Given the description of an element on the screen output the (x, y) to click on. 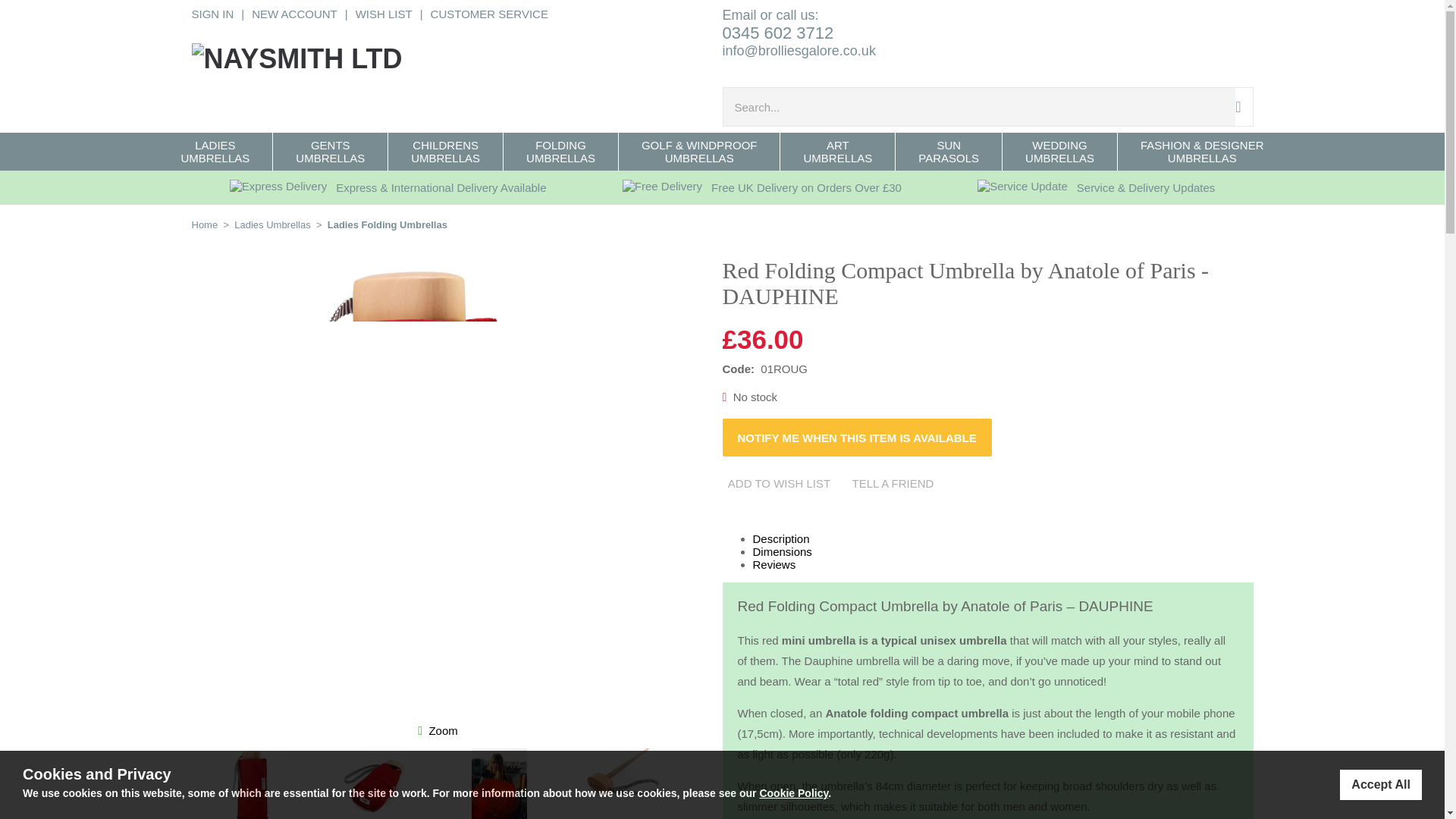
ADD TO WISH LIST (778, 482)
TELL A FRIEND (892, 482)
Red Folding Compact Umbrella by Anatole of Paris - DAUPHINE (418, 707)
Description (780, 538)
Reviews (773, 563)
Red Folding Compact Umbrella by Anatole of Paris - DAUPHINE (442, 730)
Dimensions (781, 551)
NOTIFY ME WHEN THIS ITEM IS AVAILABLE (856, 437)
Zoom (442, 730)
